Given the description of an element on the screen output the (x, y) to click on. 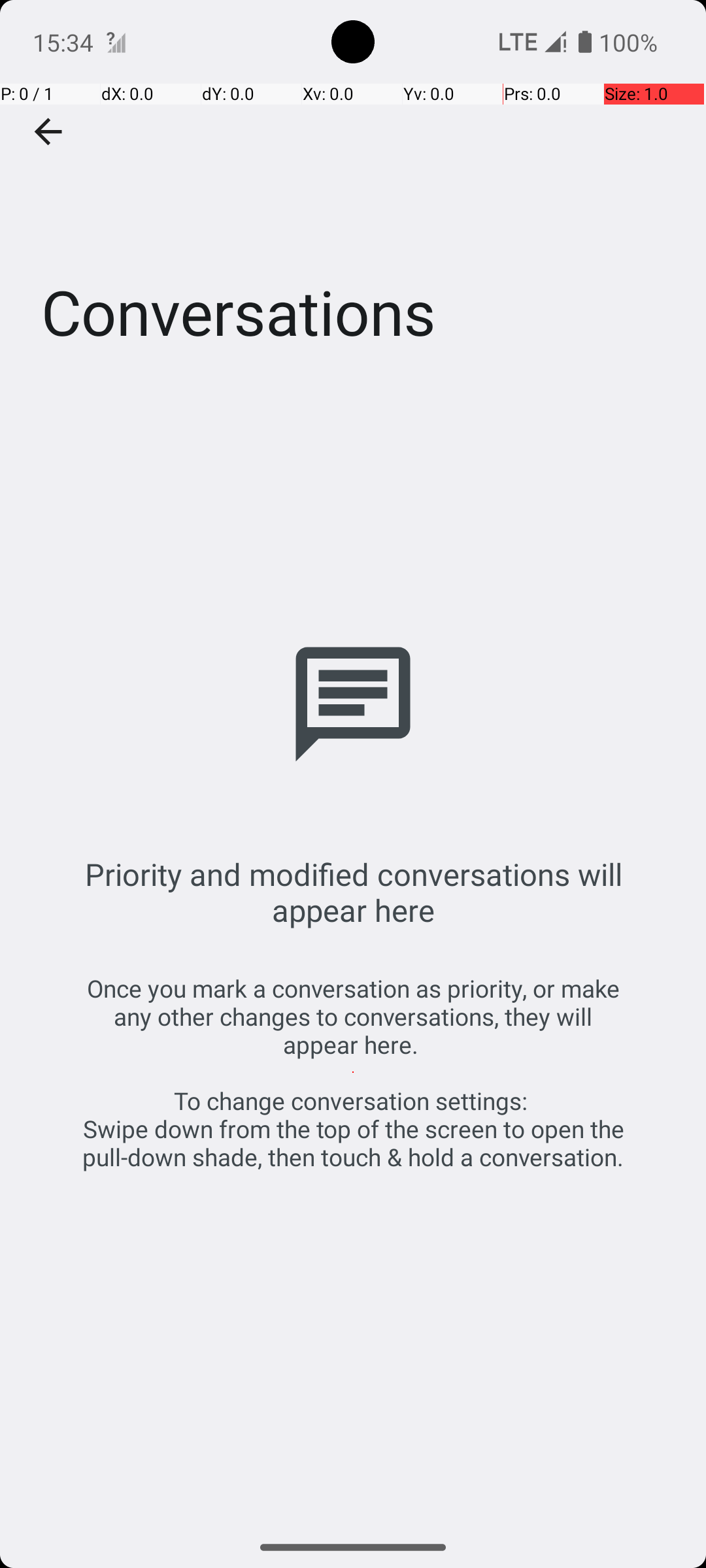
Priority and modified conversations will appear here Element type: android.widget.TextView (352, 891)
Once you mark a conversation as priority, or make any other changes to conversations, they will appear here. 

To change conversation settings: 
Swipe down from the top of the screen to open the pull-down shade, then touch & hold a conversation. Element type: android.widget.TextView (352, 1072)
